Given the description of an element on the screen output the (x, y) to click on. 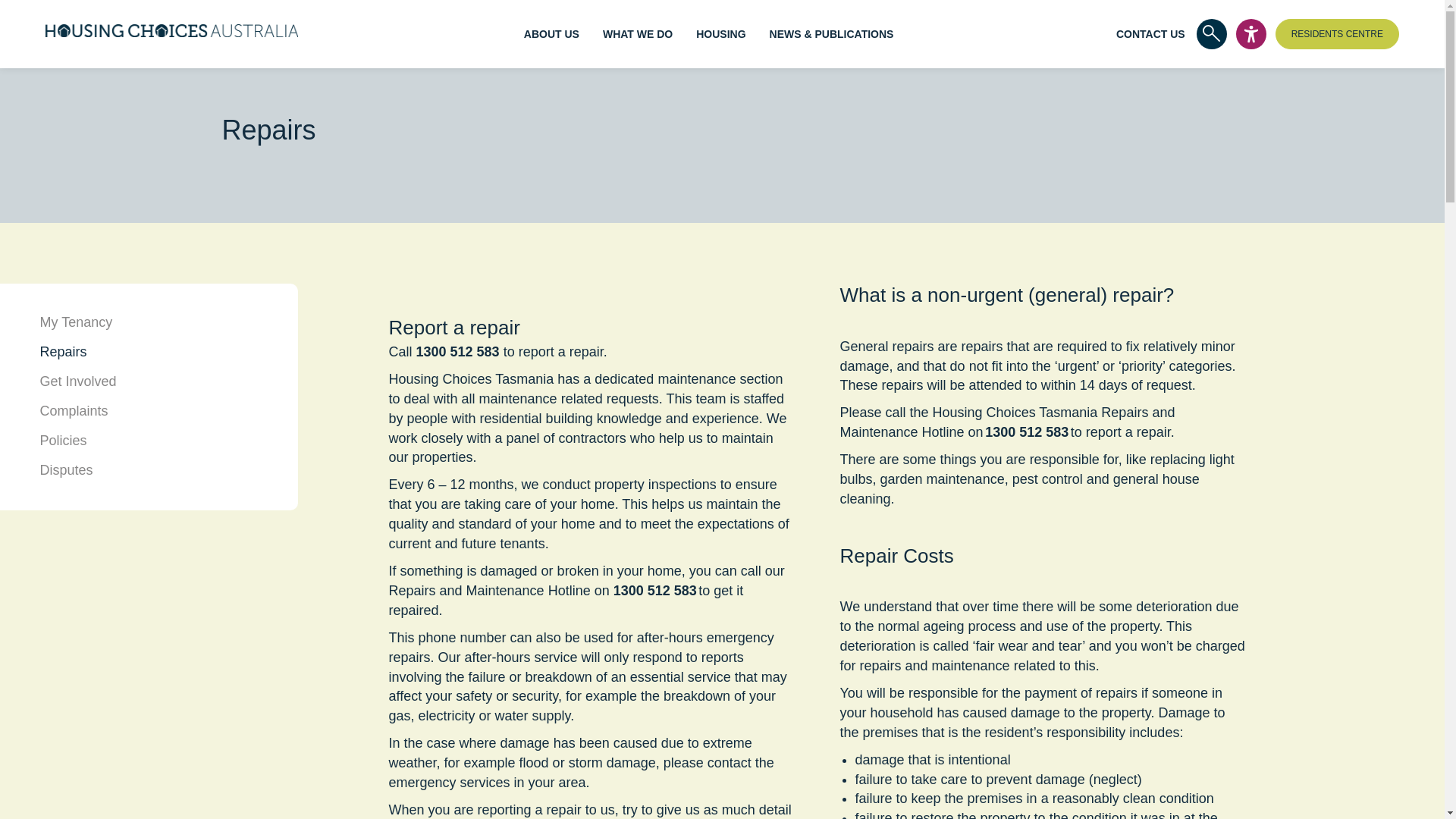
My Tenancy (75, 322)
Get Involved (77, 381)
WHAT WE DO (637, 33)
RESIDENTS CENTRE (1337, 33)
HOUSING (720, 33)
Repairs (62, 351)
CONTACT US (1150, 33)
ABOUT US (551, 33)
Disputes (66, 469)
Complaints (73, 410)
Policies (62, 440)
